Given the description of an element on the screen output the (x, y) to click on. 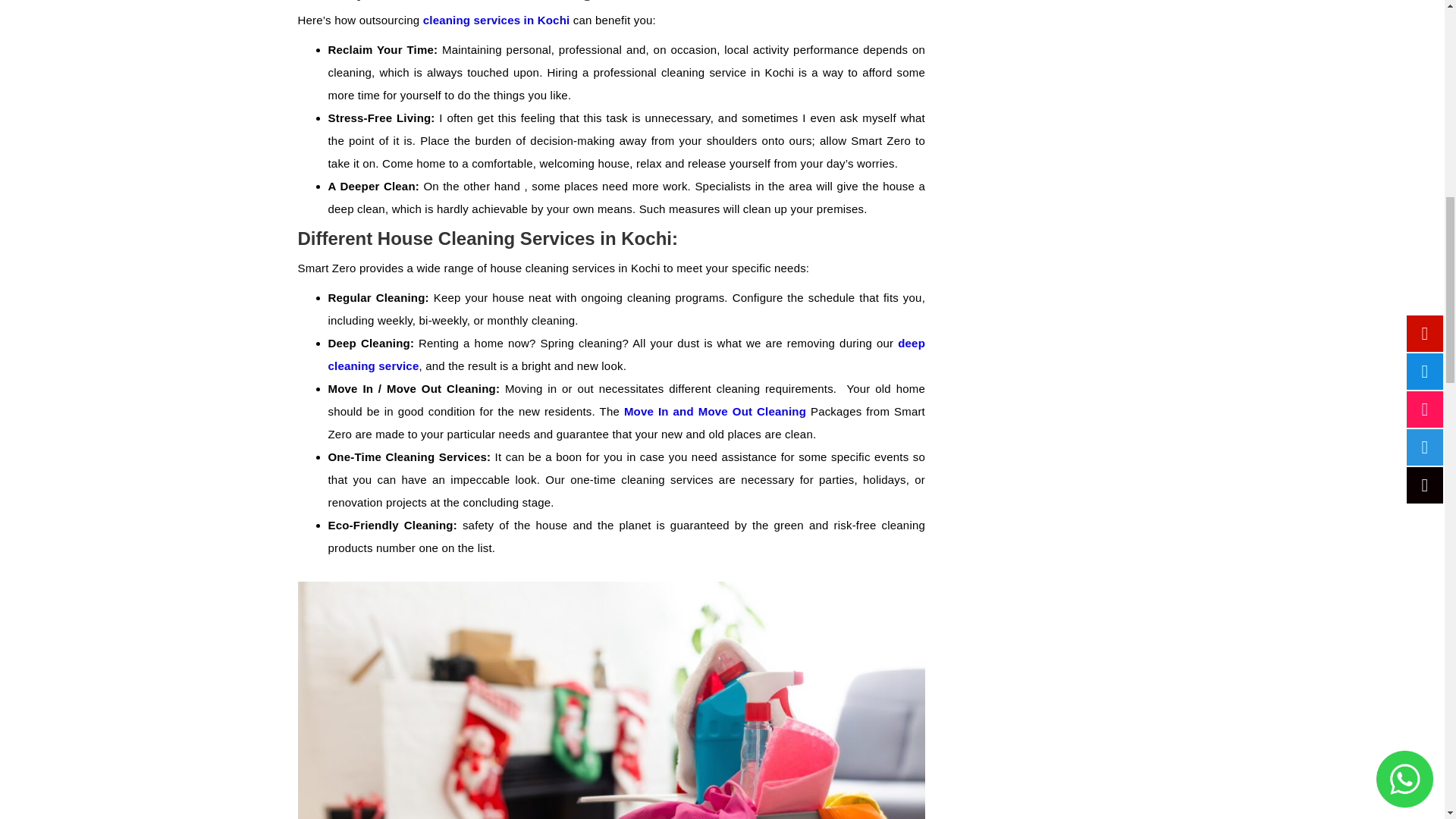
Move In and Move Out Cleaning (715, 410)
cleaning services in Kochi (496, 19)
deep cleaning service (625, 354)
